Given the description of an element on the screen output the (x, y) to click on. 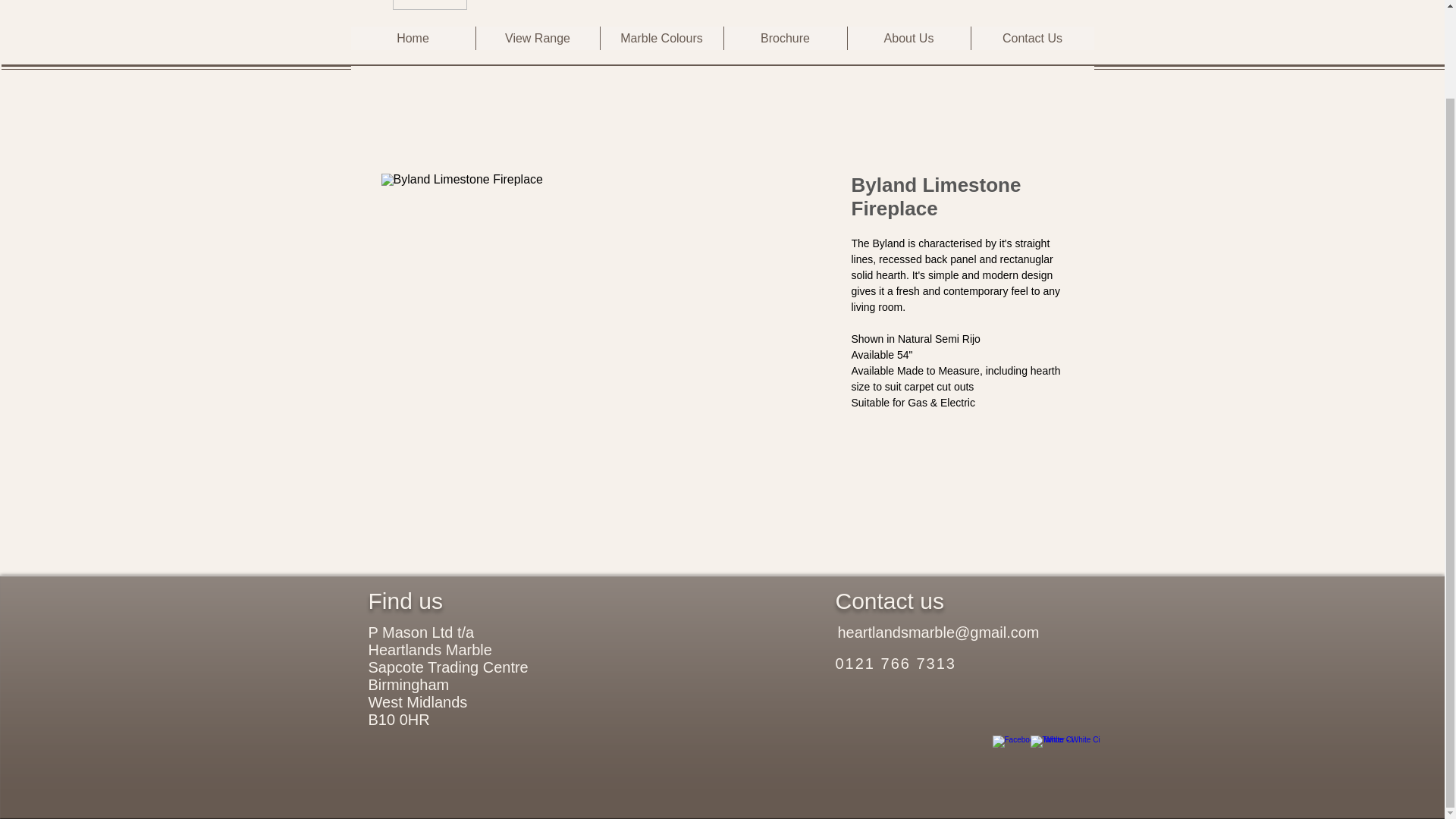
0121 766 7313 (895, 663)
Marble Colours (660, 37)
Brochure (785, 37)
View Range (536, 37)
Contact Us (1032, 37)
About Us (907, 37)
Home (412, 37)
